Given the description of an element on the screen output the (x, y) to click on. 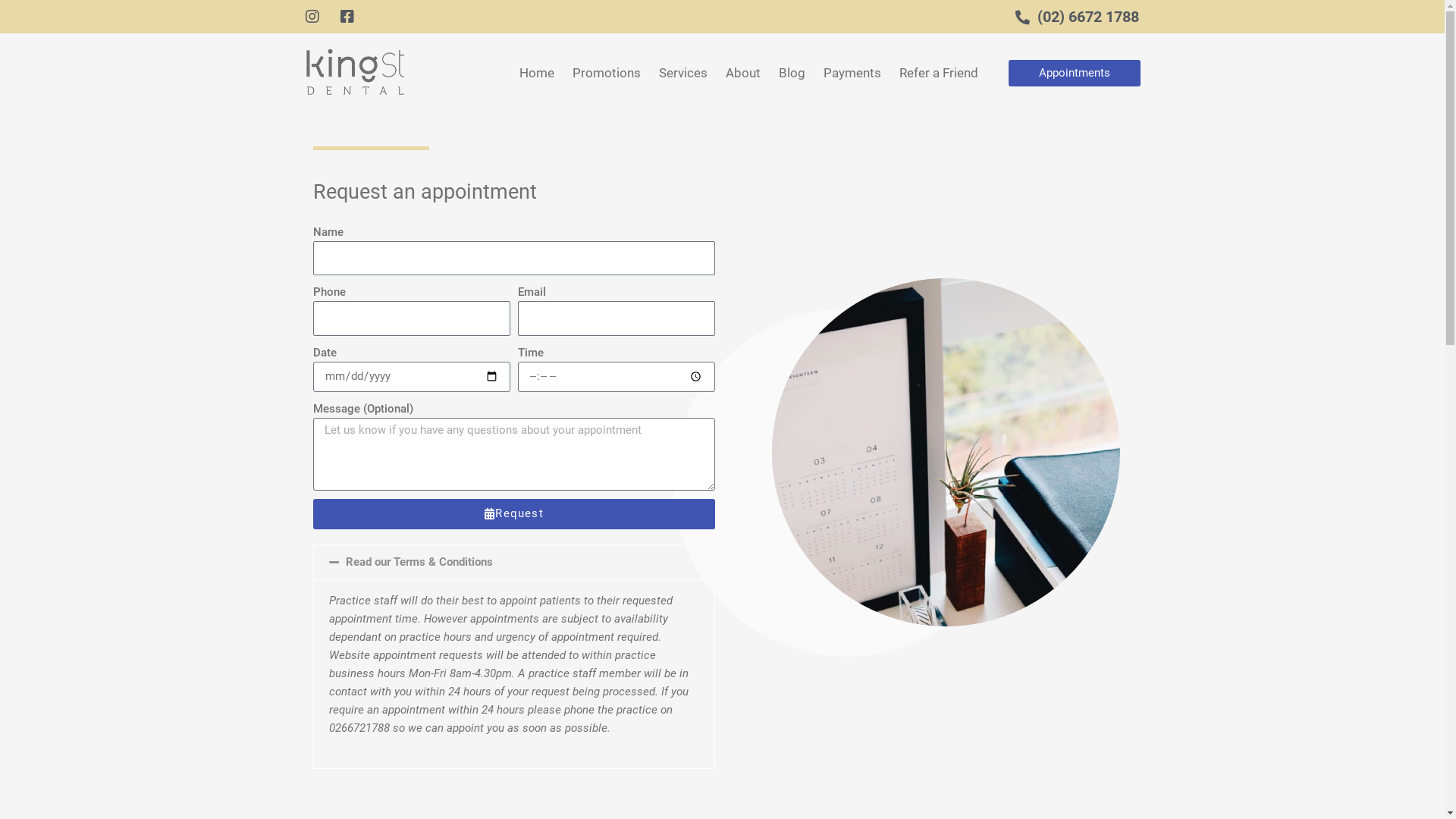
Home Element type: text (536, 72)
Refer a Friend Element type: text (938, 72)
Services Element type: text (682, 72)
Read our Terms & Conditions Element type: text (418, 561)
(02) 6672 1788 Element type: text (1070, 16)
Promotions Element type: text (606, 72)
About Element type: text (742, 72)
Blog Element type: text (791, 72)
Request Element type: text (513, 513)
Payments Element type: text (852, 72)
Appointments Element type: text (1074, 72)
